Given the description of an element on the screen output the (x, y) to click on. 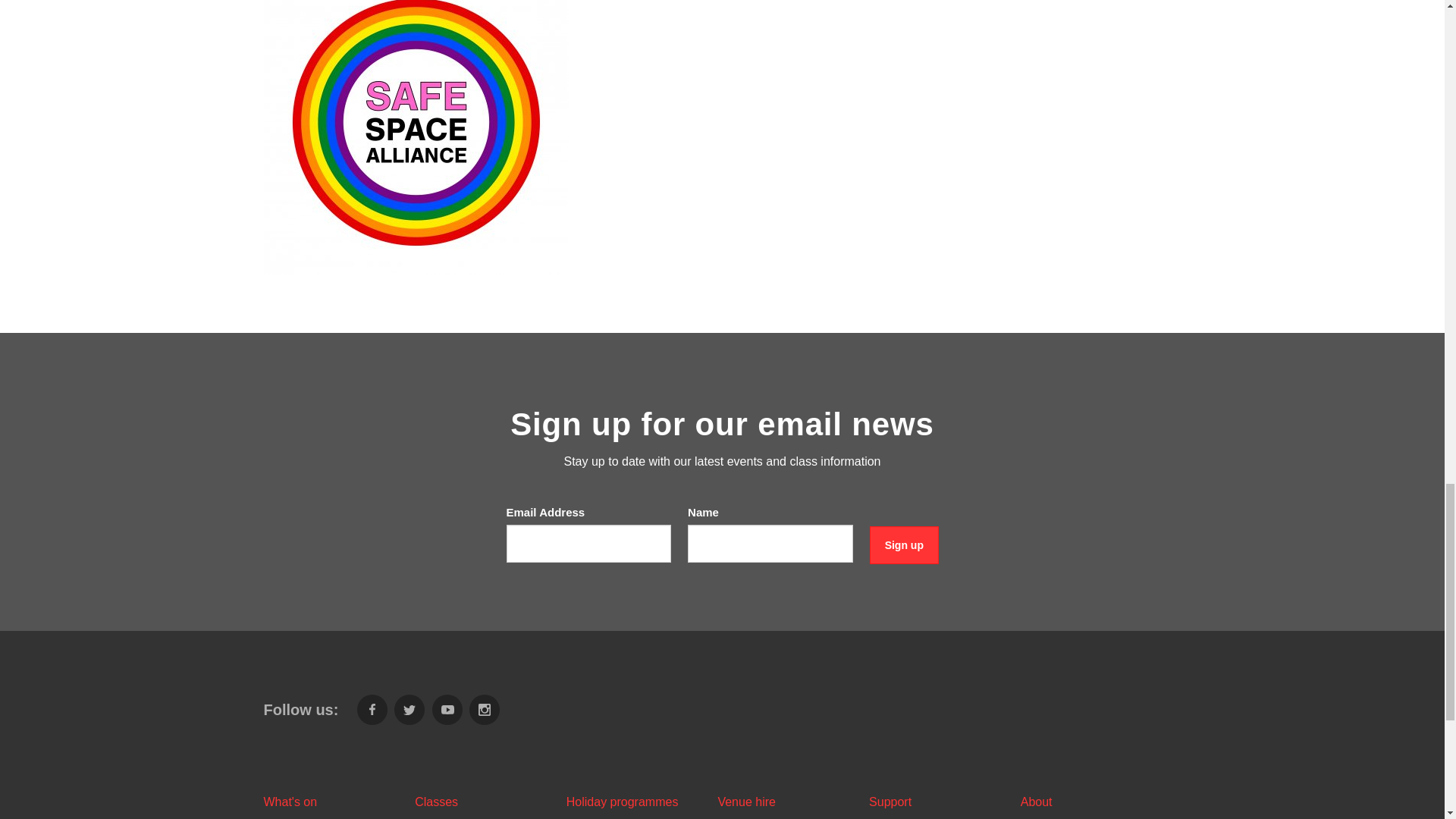
Learn with us on YouTube (447, 709)
Join us on Facebook (371, 709)
Sign up (904, 545)
Follow us on Twitter (409, 709)
Check us out on Instagram (483, 709)
